Given the description of an element on the screen output the (x, y) to click on. 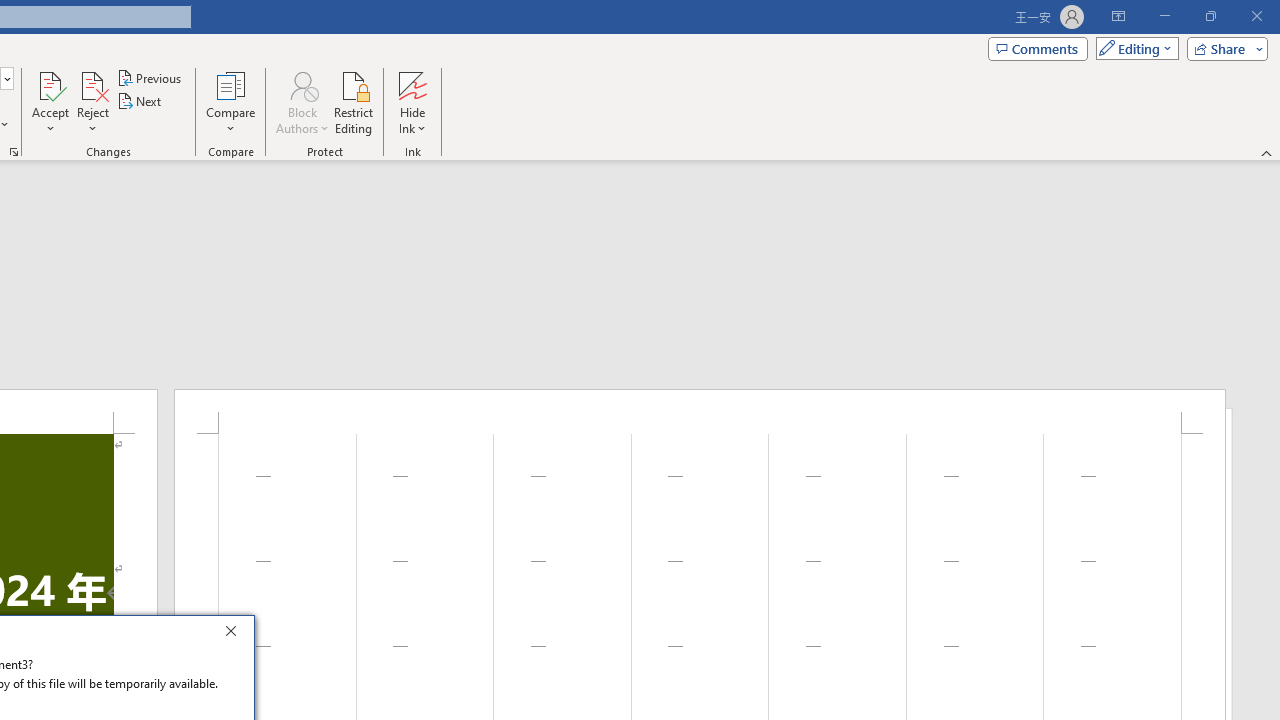
Minimize (1164, 16)
Change Tracking Options... (13, 151)
Reject (92, 102)
Block Authors (302, 102)
Reject and Move to Next (92, 84)
Restore Down (1210, 16)
Block Authors (302, 84)
Ribbon Display Options (1118, 16)
Open (6, 78)
Mode (1133, 47)
Collapse the Ribbon (1267, 152)
